Given the description of an element on the screen output the (x, y) to click on. 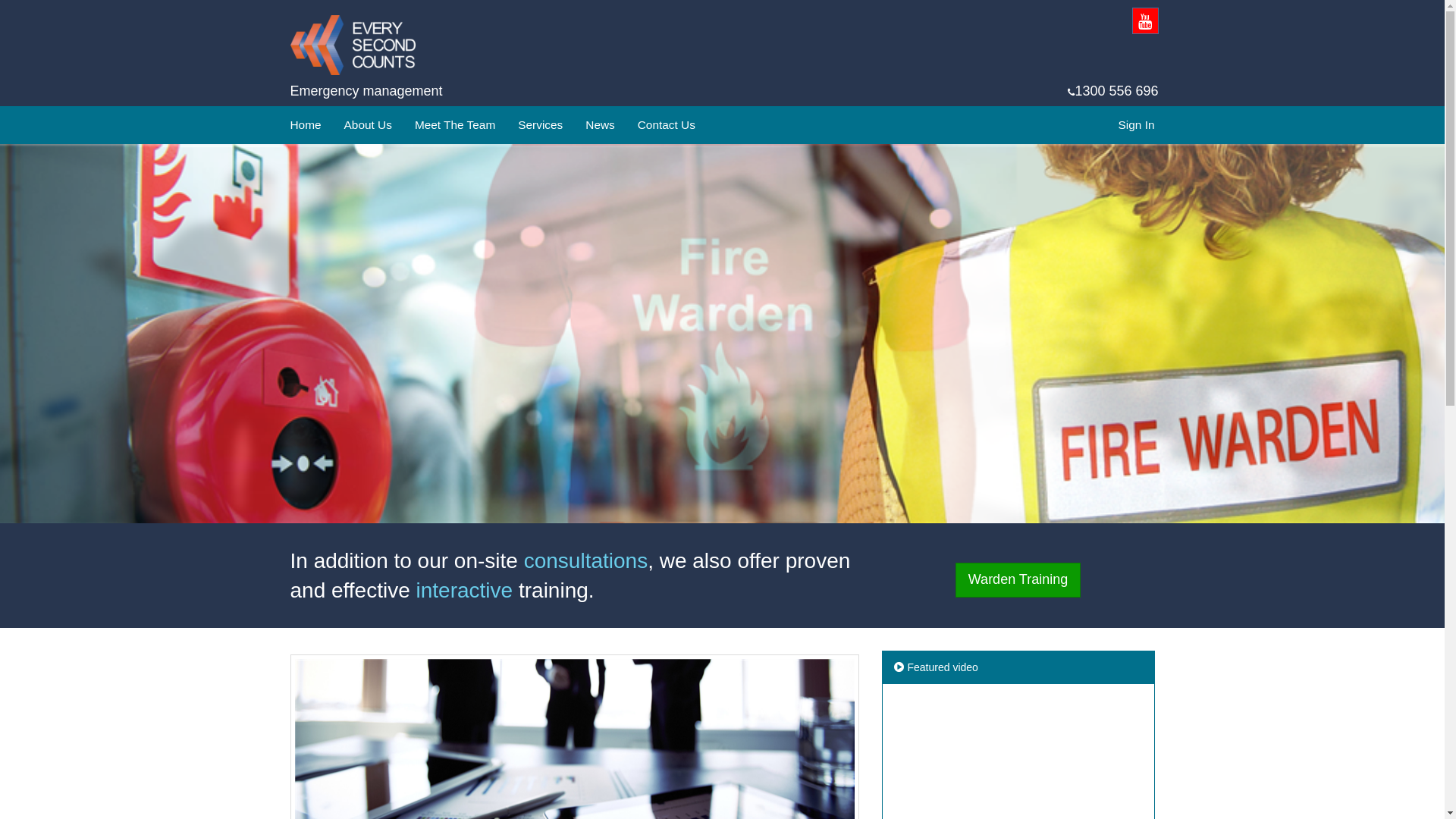
News Element type: text (599, 125)
Sign In Element type: text (1136, 125)
Contact Us Element type: text (666, 125)
Meet The Team Element type: text (454, 125)
Services Element type: text (540, 125)
Warden Training Element type: text (1017, 579)
Home Element type: text (305, 125)
About Us Element type: text (367, 125)
